Given the description of an element on the screen output the (x, y) to click on. 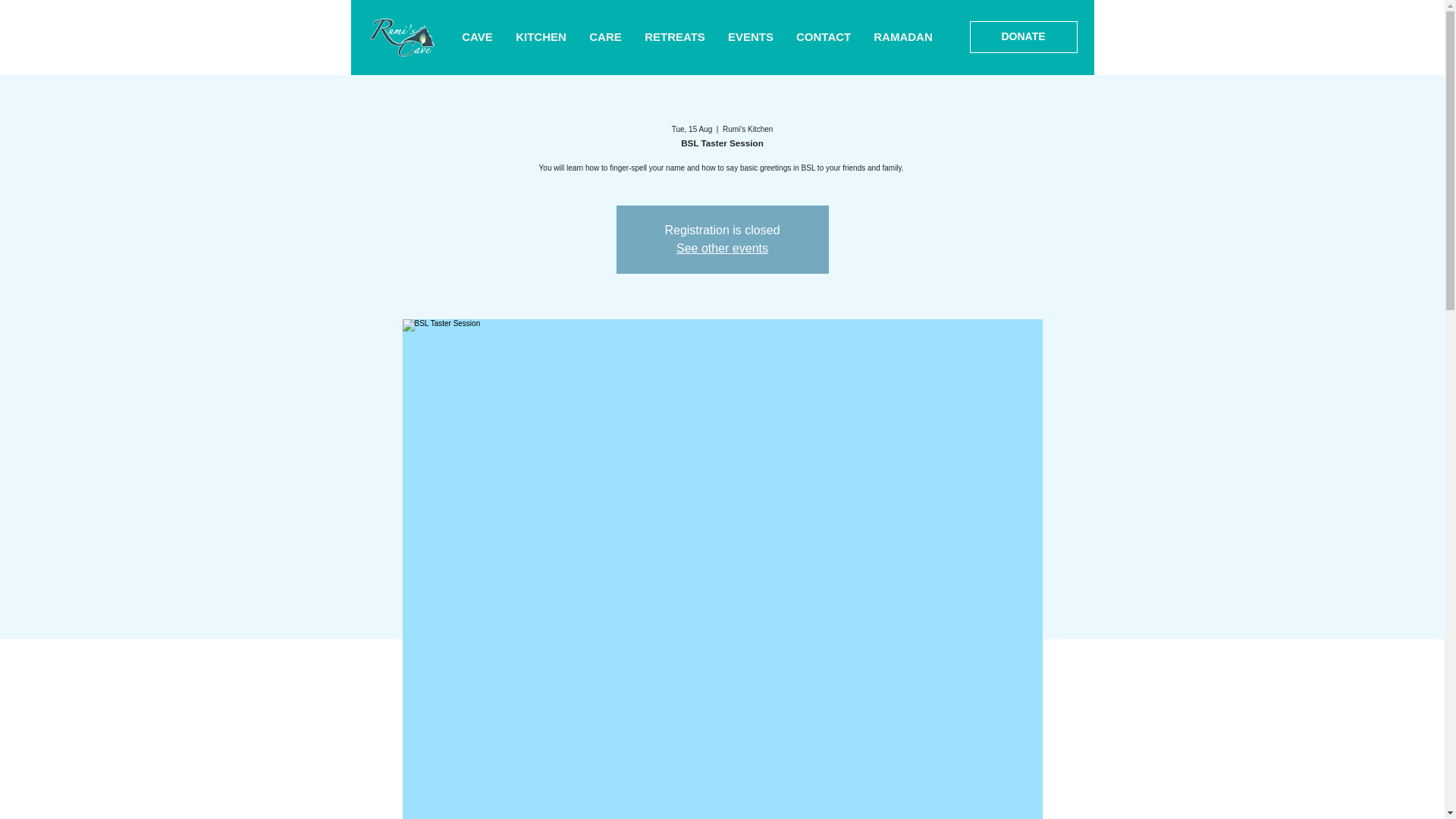
DONATE (1023, 37)
KITCHEN (540, 37)
CARE (605, 37)
RETREATS (674, 37)
CAVE (476, 37)
See other events (722, 247)
RAMADAN (902, 37)
EVENTS (750, 37)
CONTACT (822, 37)
